Given the description of an element on the screen output the (x, y) to click on. 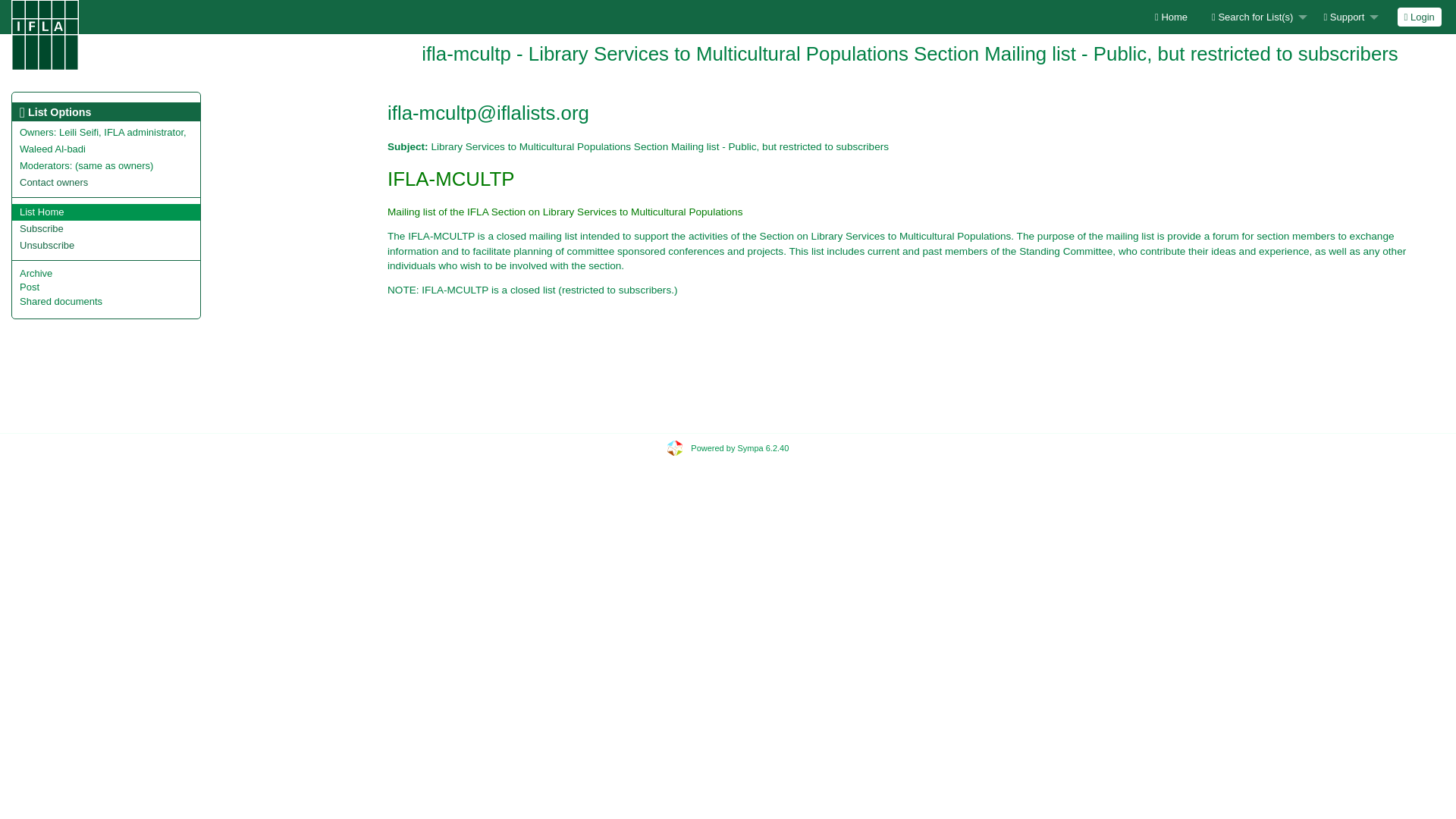
Powered by Sympa 6.2.40 (739, 447)
List Home (42, 211)
Contact owners (53, 182)
Login (1419, 16)
Subscribe (42, 228)
Unsubscribe (47, 244)
Support (1346, 17)
Home (1170, 17)
